Given the description of an element on the screen output the (x, y) to click on. 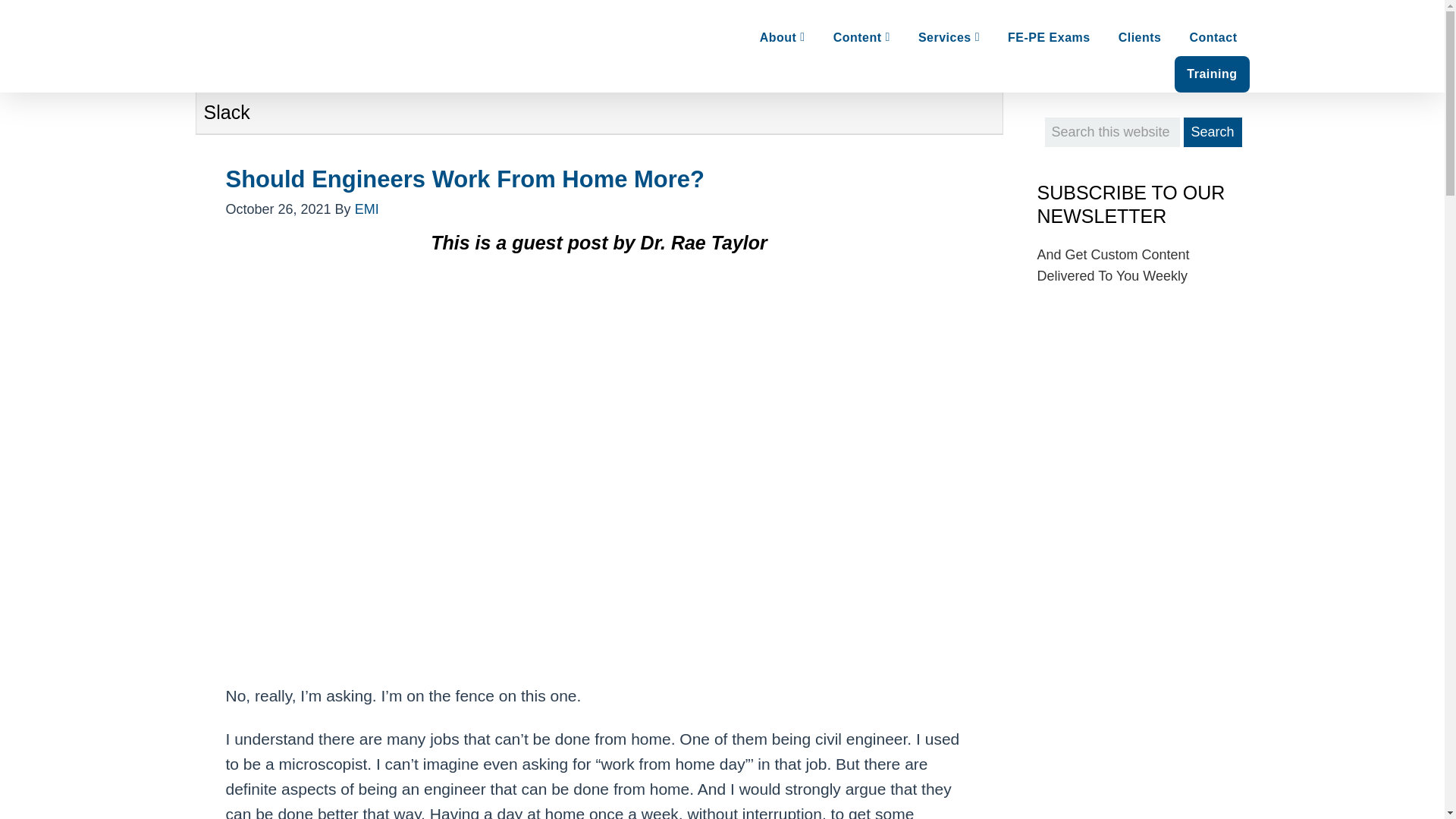
FE-PE Exams (1048, 37)
Search (1211, 132)
Contact (1212, 37)
Content (861, 37)
Clients (1139, 37)
Training (1211, 74)
Engineering Management Institute (415, 38)
Services (948, 37)
Search (1211, 132)
